Given the description of an element on the screen output the (x, y) to click on. 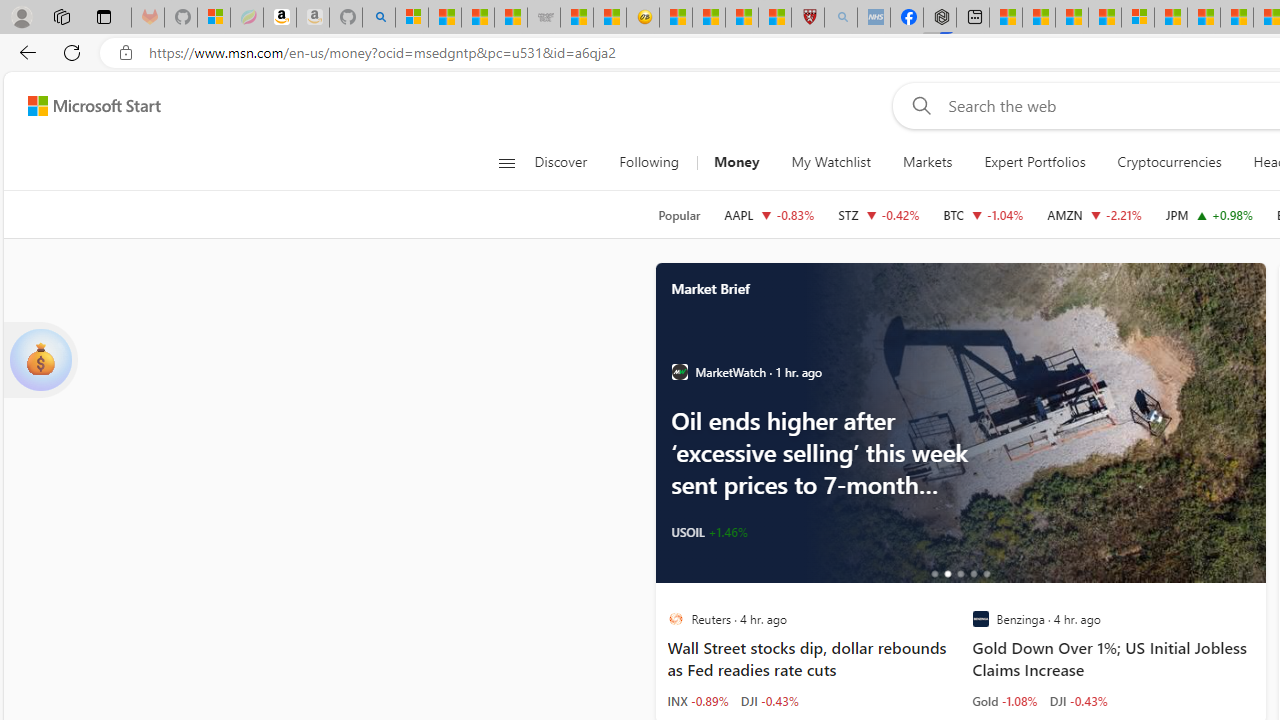
Expert Portfolios (1034, 162)
Gold -1.08% (1004, 700)
My Watchlist (830, 162)
Markets (927, 162)
Money (736, 162)
14 Common Myths Debunked By Scientific Facts (1237, 17)
Class: button-glyph (505, 162)
AAPL APPLE INC. decrease 224.53 -1.87 -0.83% (768, 214)
show card (40, 359)
Stocks - MSN (511, 17)
JPM JPMORGAN CHASE & CO. increase 216.71 +2.11 +0.98% (1209, 214)
